Given the description of an element on the screen output the (x, y) to click on. 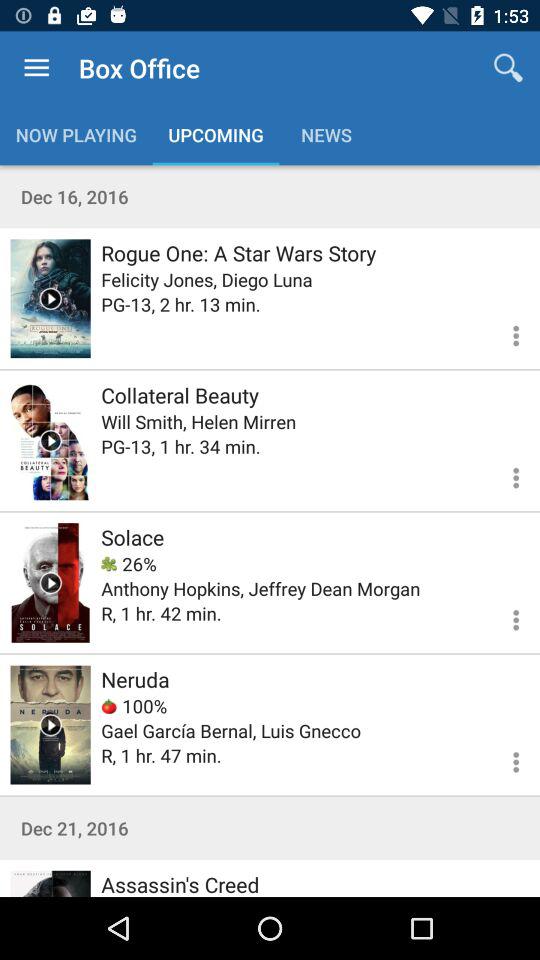
click will smith helen icon (198, 421)
